Given the description of an element on the screen output the (x, y) to click on. 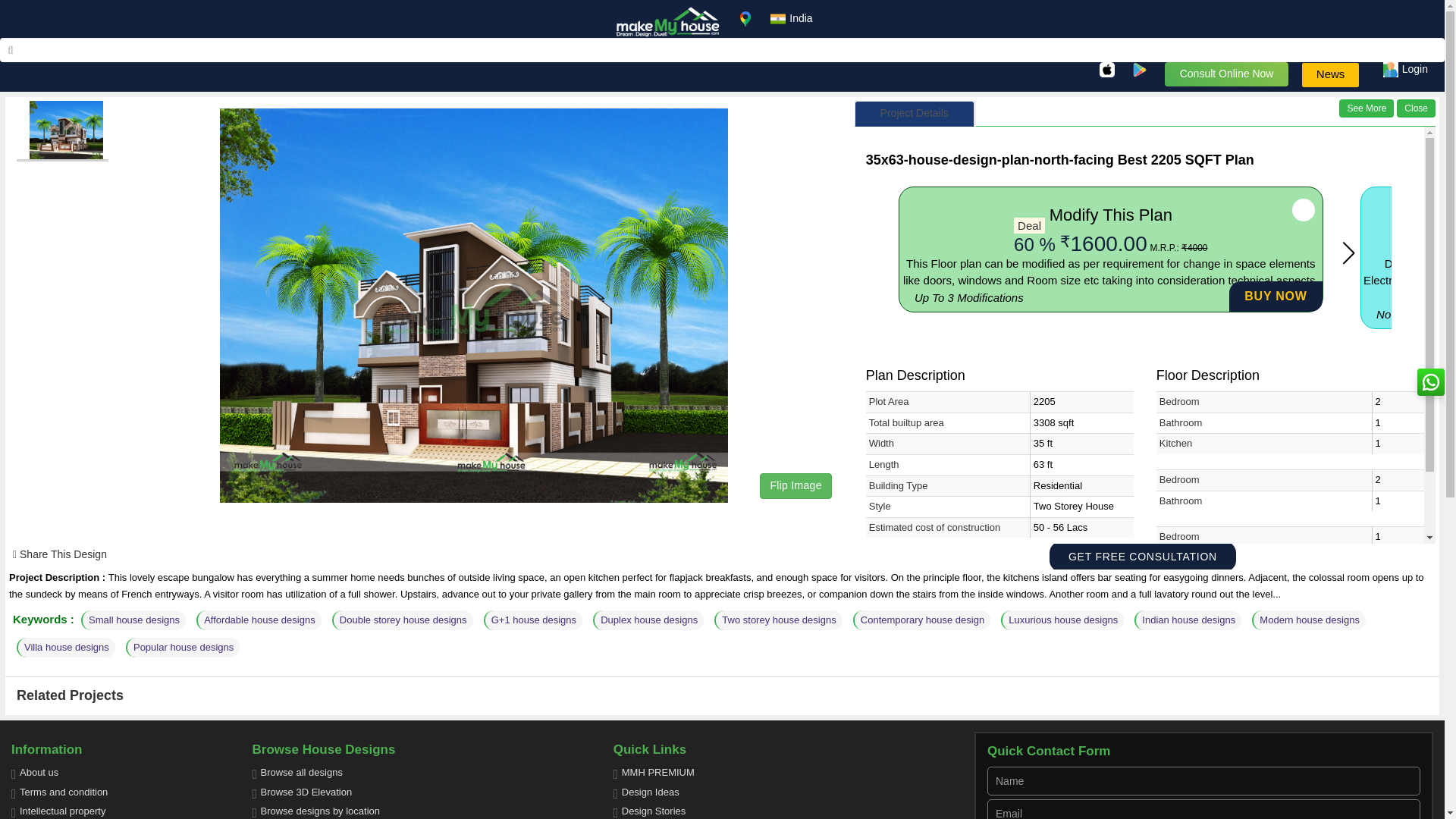
India (791, 18)
News (1329, 74)
Consult Online Now (1226, 74)
Login (1405, 69)
